Given the description of an element on the screen output the (x, y) to click on. 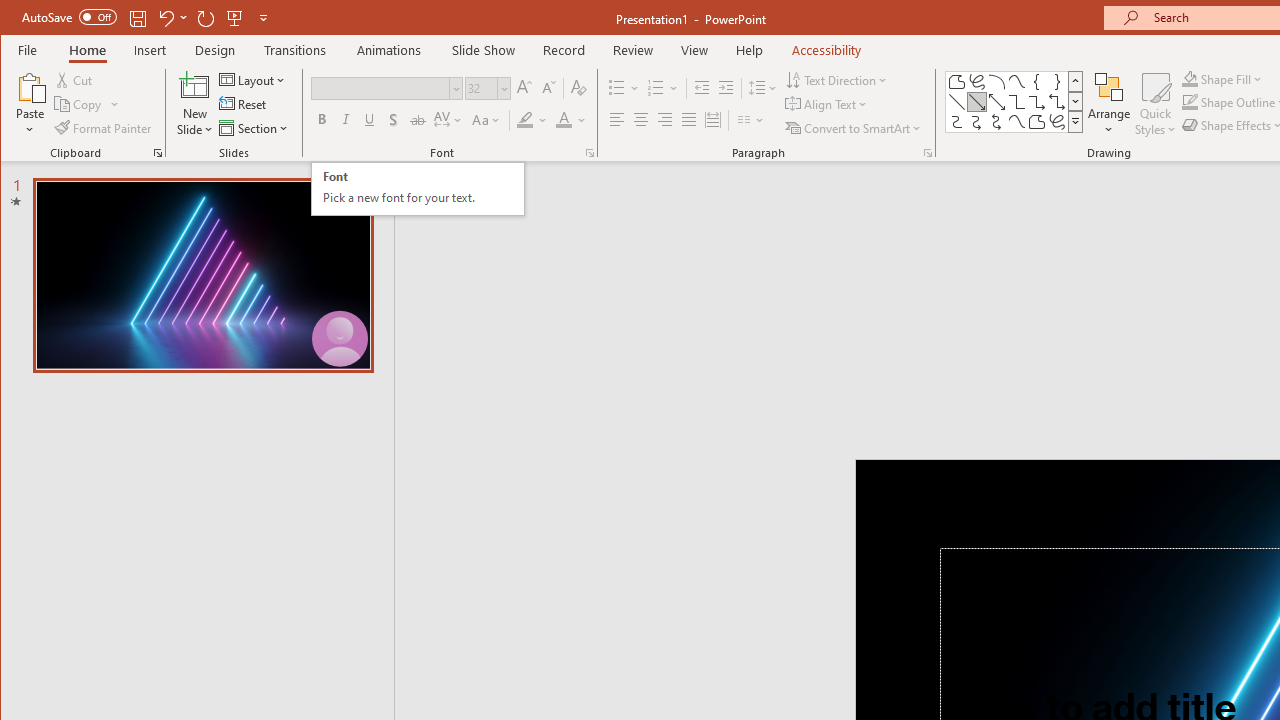
Shape Outline Blue, Accent 1 (1189, 101)
Connector: Curved Double-Arrow (996, 121)
